Given the description of an element on the screen output the (x, y) to click on. 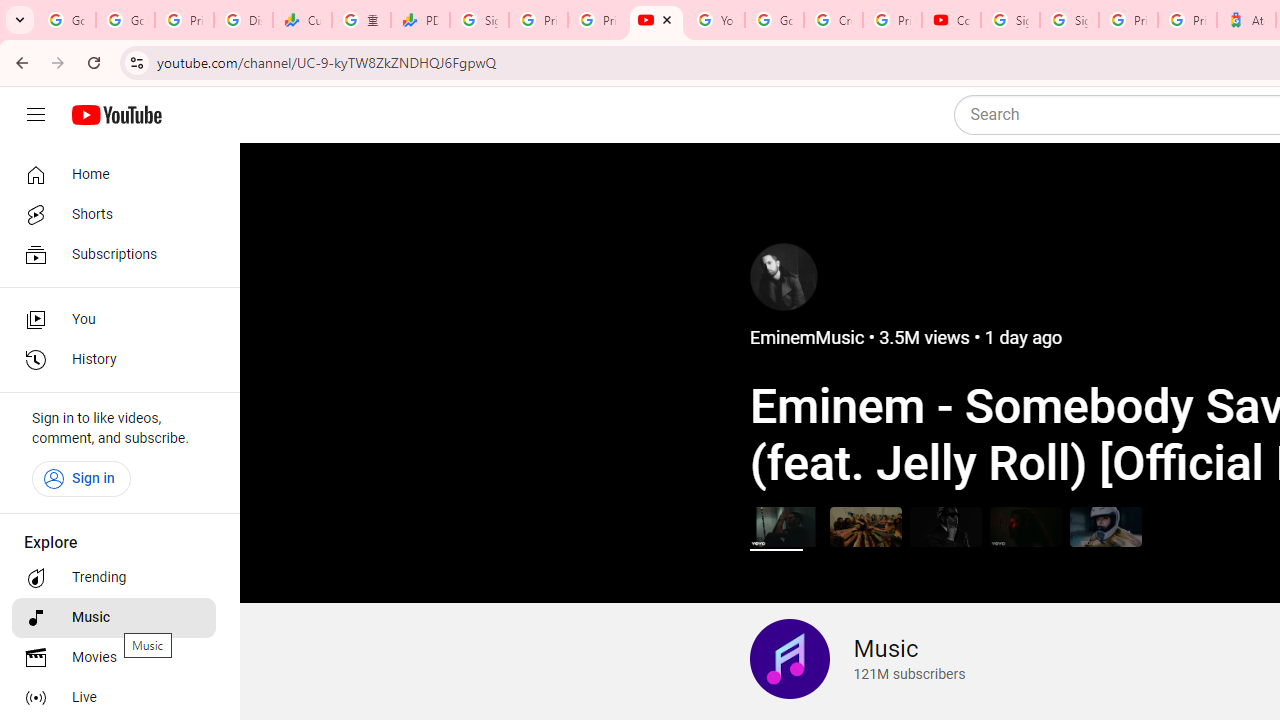
Hozier - Nobody's Soldier (Official Video) (1025, 526)
Currencies - Google Finance (301, 20)
Privacy Checkup (597, 20)
Movies (113, 657)
PDD Holdings Inc - ADR (PDD) Price & News - Google Finance (420, 20)
Guide (35, 115)
